Given the description of an element on the screen output the (x, y) to click on. 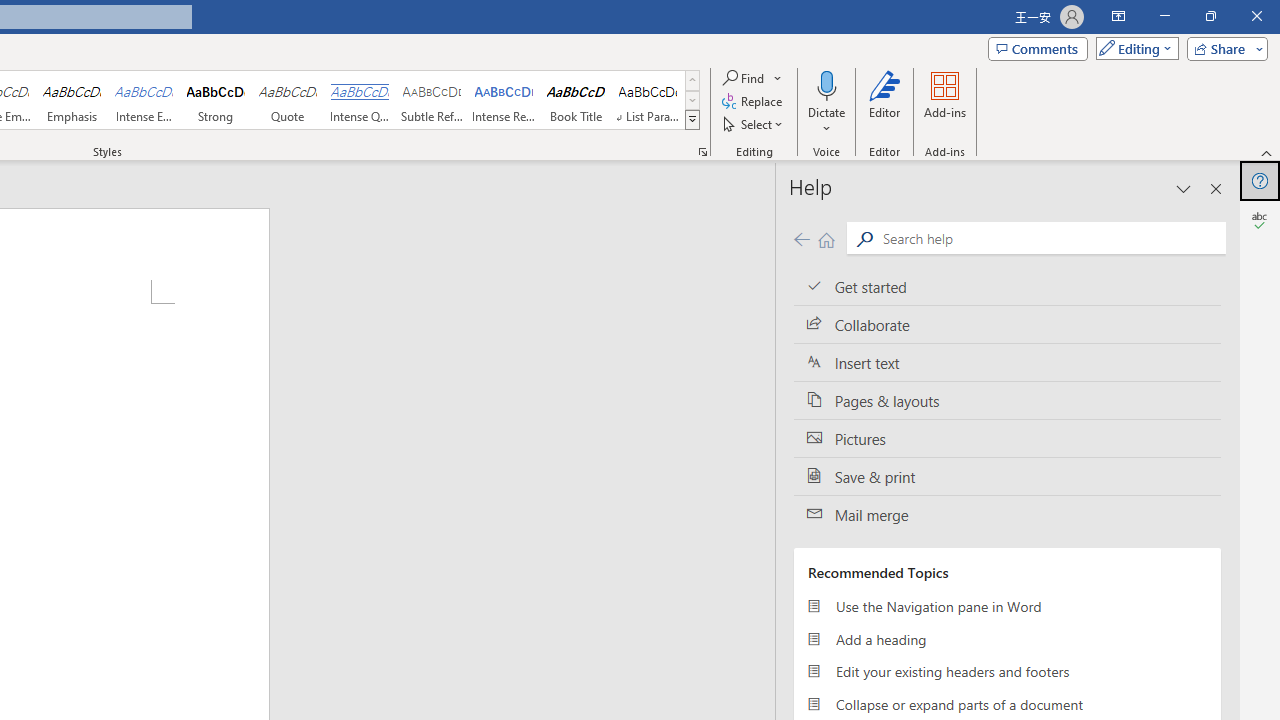
Save & print (1007, 476)
